Given the description of an element on the screen output the (x, y) to click on. 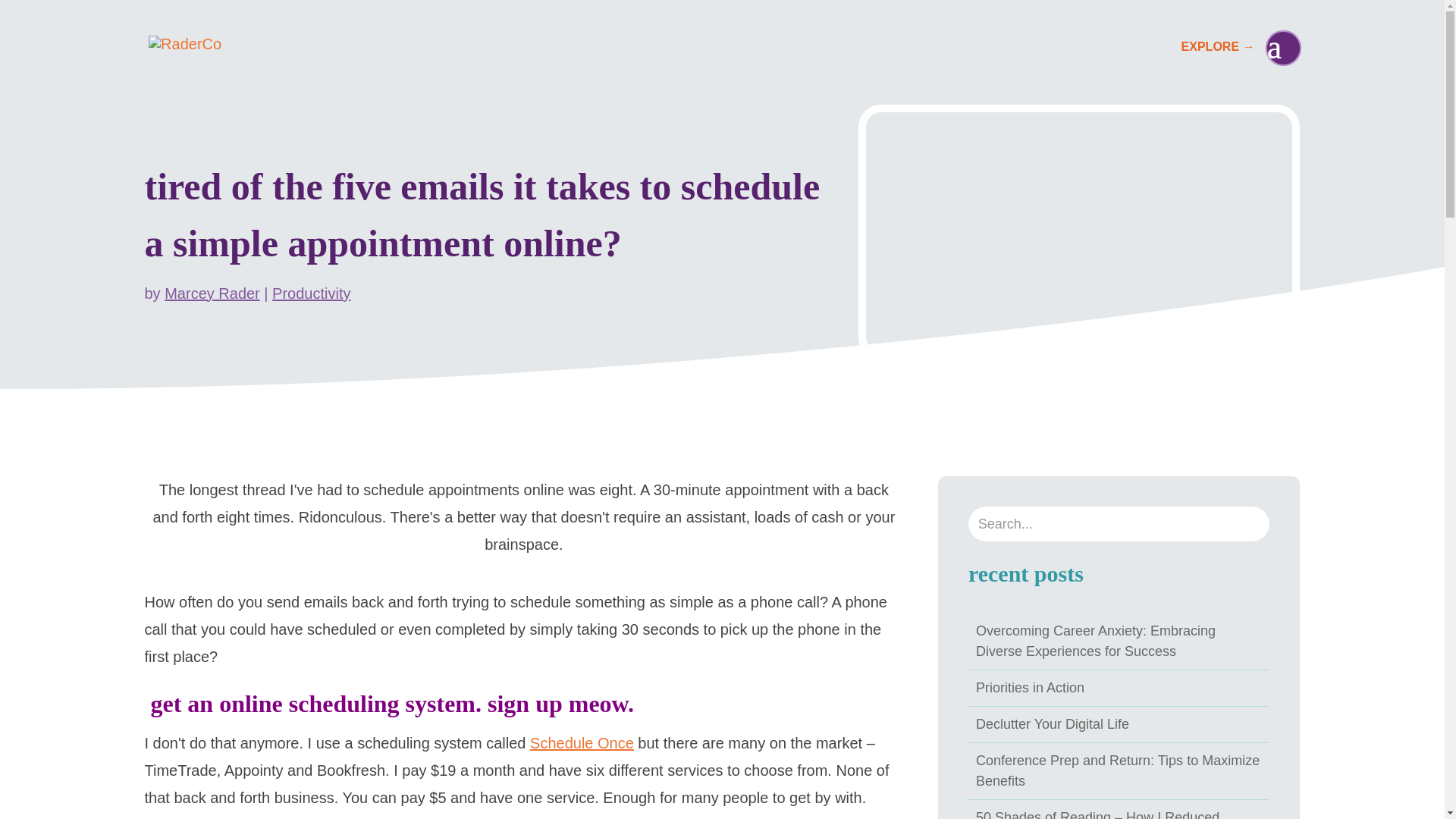
Posts by Marcey Rader (212, 293)
Marcey Rader (212, 293)
Search (24, 18)
Declutter Your Digital Life (1052, 723)
Schedule Once (581, 742)
Priorities in Action (1029, 686)
Conference Prep and Return: Tips to Maximize Benefits (1117, 769)
Productivity (311, 293)
